Given the description of an element on the screen output the (x, y) to click on. 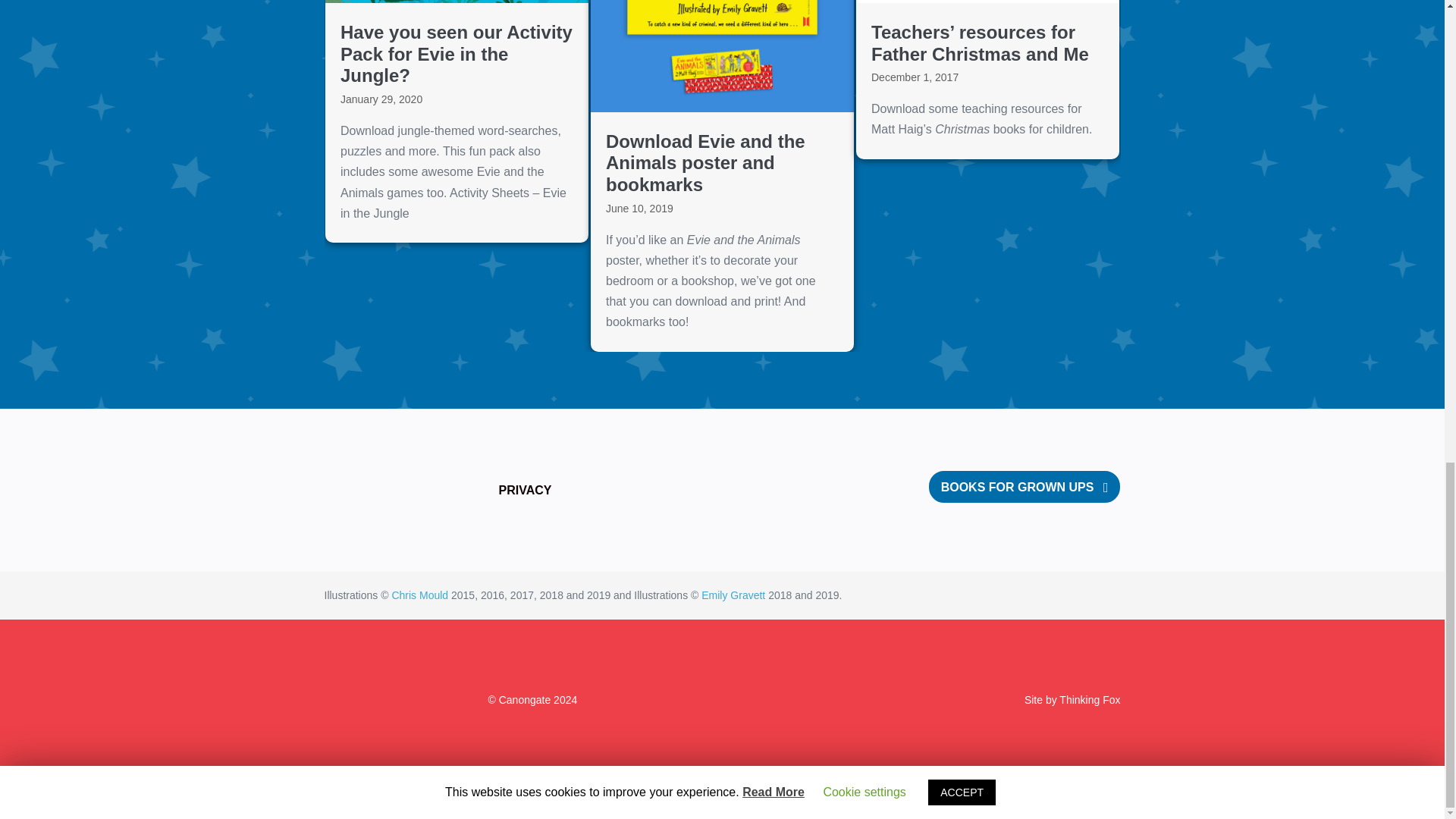
Thinking Fox (1089, 699)
PRIVACY (524, 490)
evie-posters-bookmarks (722, 56)
BOOKS FOR GROWN UPS (1024, 486)
Chris Mould (419, 594)
Emily Gravett (733, 594)
ResourcePack2 (987, 1)
Have you seen our Activity Pack for Evie in the Jungle? (456, 121)
